Given the description of an element on the screen output the (x, y) to click on. 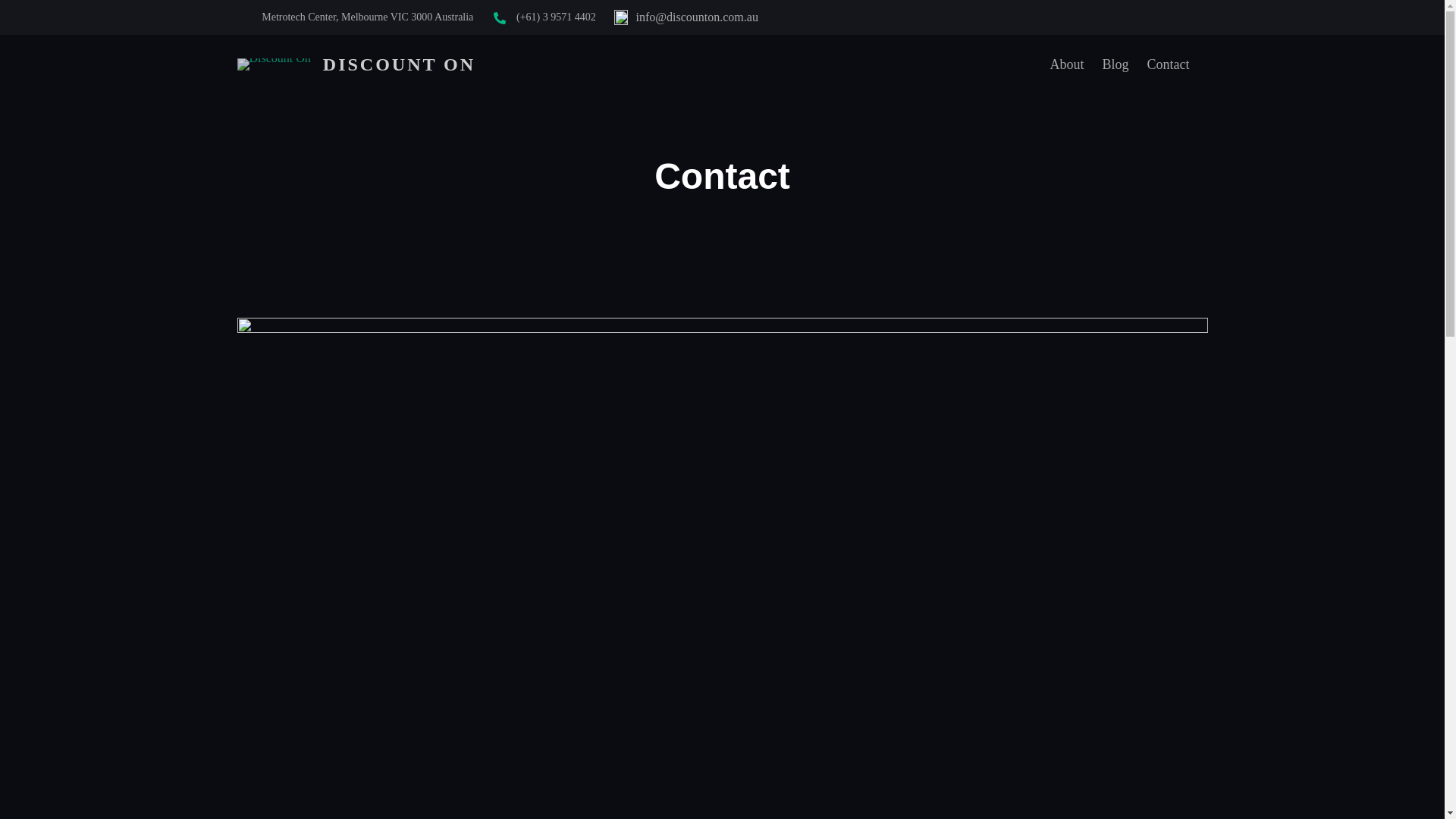
(+61) 3 9571 4402 Element type: text (556, 16)
info@discounton.com.au Element type: text (697, 16)
About Element type: text (1066, 64)
Metrotech Center, Melbourne VIC 3000 Australia Element type: text (367, 16)
Blog Element type: text (1114, 64)
DISCOUNT ON Element type: text (399, 64)
Contact Element type: text (1167, 64)
